Given the description of an element on the screen output the (x, y) to click on. 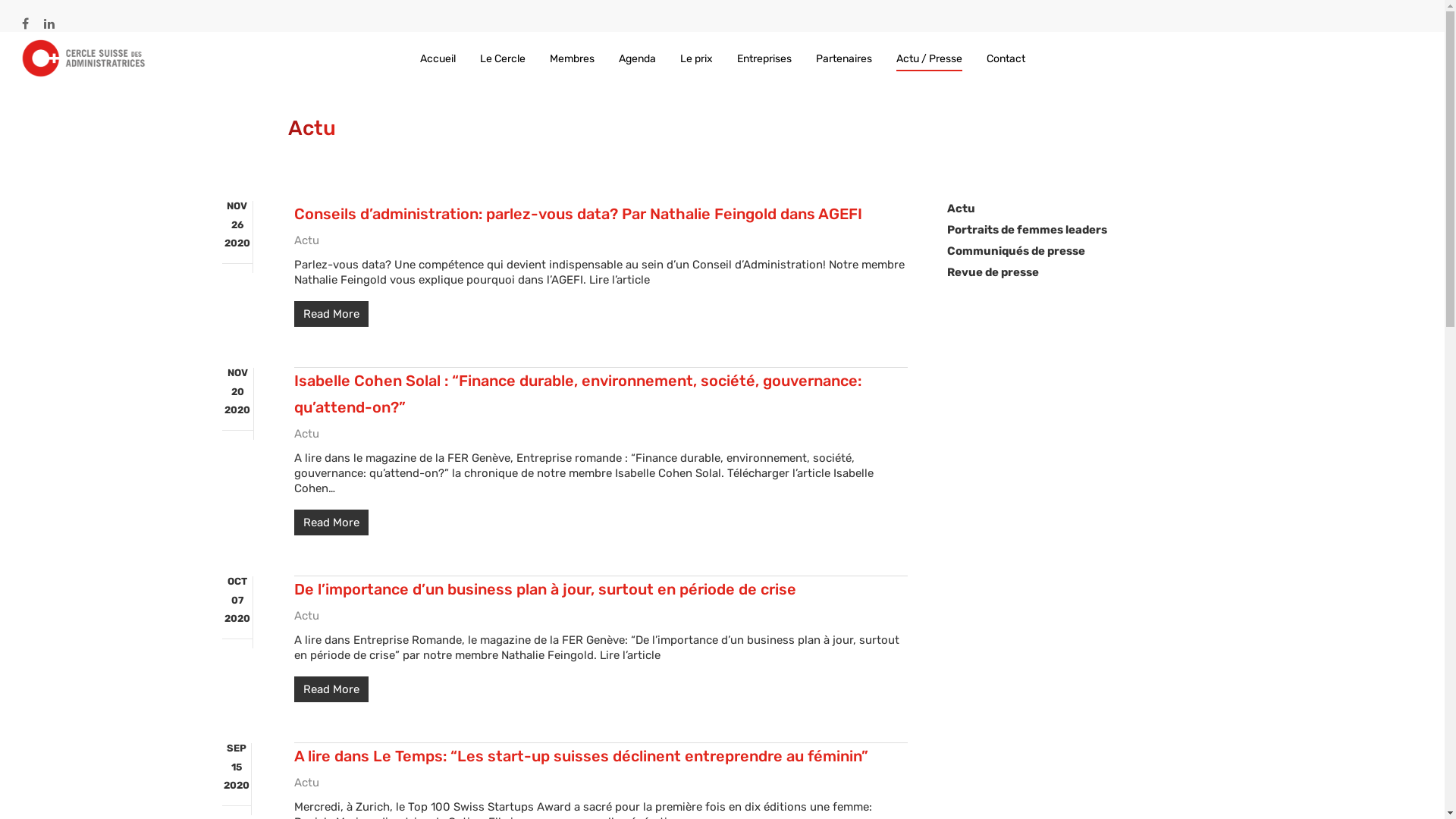
Le prix Element type: text (695, 58)
Read More Element type: text (600, 688)
Agenda Element type: text (636, 58)
Accueil Element type: text (437, 58)
Entreprises Element type: text (764, 58)
Actu Element type: text (306, 240)
Actu Element type: text (306, 614)
Actu Element type: text (306, 432)
Actu Element type: text (1084, 207)
Contact Element type: text (1004, 58)
Partenaires Element type: text (843, 58)
Actu / Presse Element type: text (929, 58)
Revue de presse Element type: text (1084, 271)
Actu Element type: text (306, 781)
Le Cercle Element type: text (501, 58)
Membres Element type: text (571, 58)
Read More Element type: text (600, 313)
Read More Element type: text (600, 521)
Portraits de femmes leaders Element type: text (1084, 228)
